Given the description of an element on the screen output the (x, y) to click on. 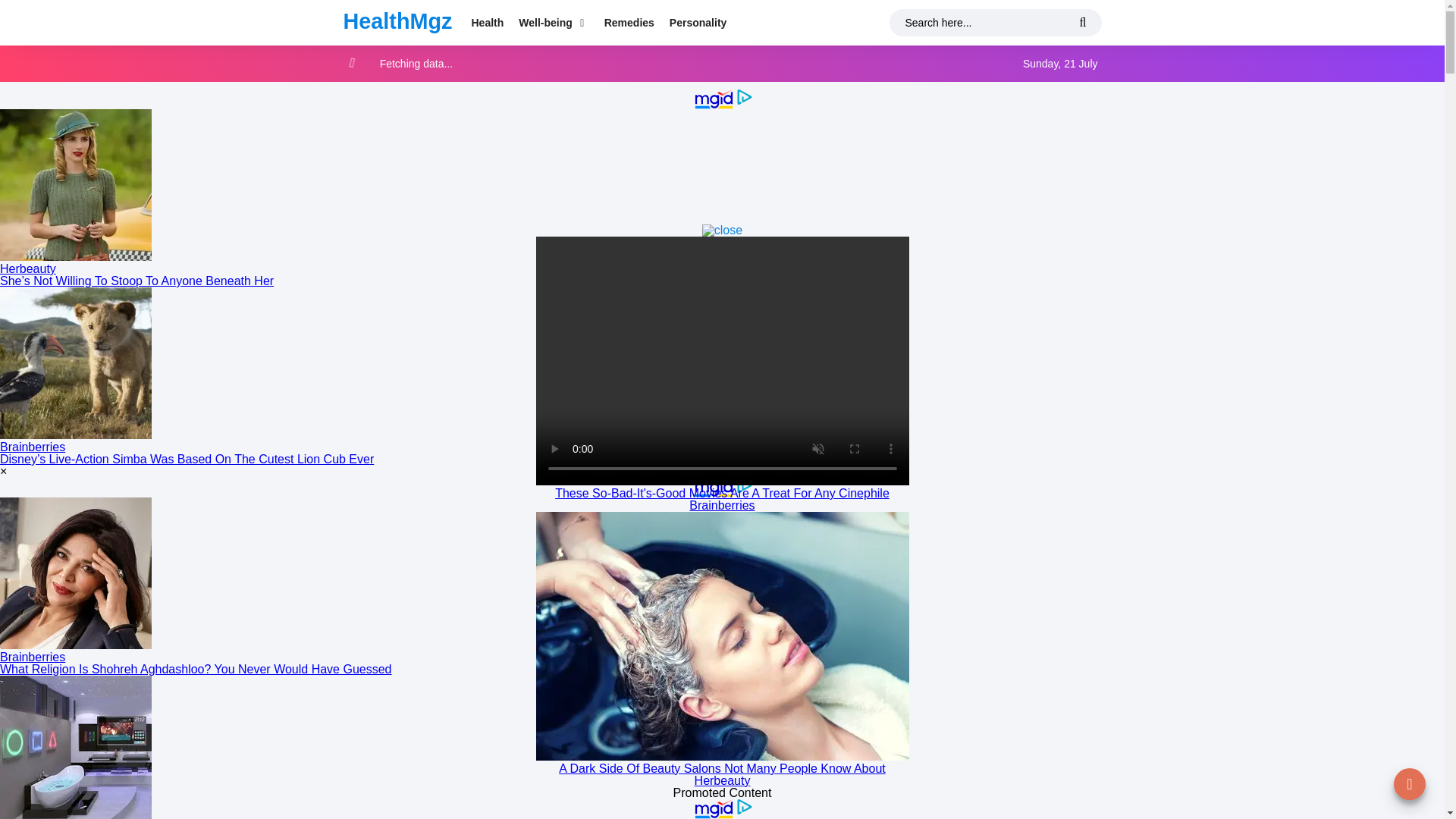
Personality (697, 22)
Remedies (629, 22)
Well-being (553, 22)
Search here... (994, 22)
HealthMgz (396, 21)
HealthMgz (396, 21)
Health (488, 22)
